Given the description of an element on the screen output the (x, y) to click on. 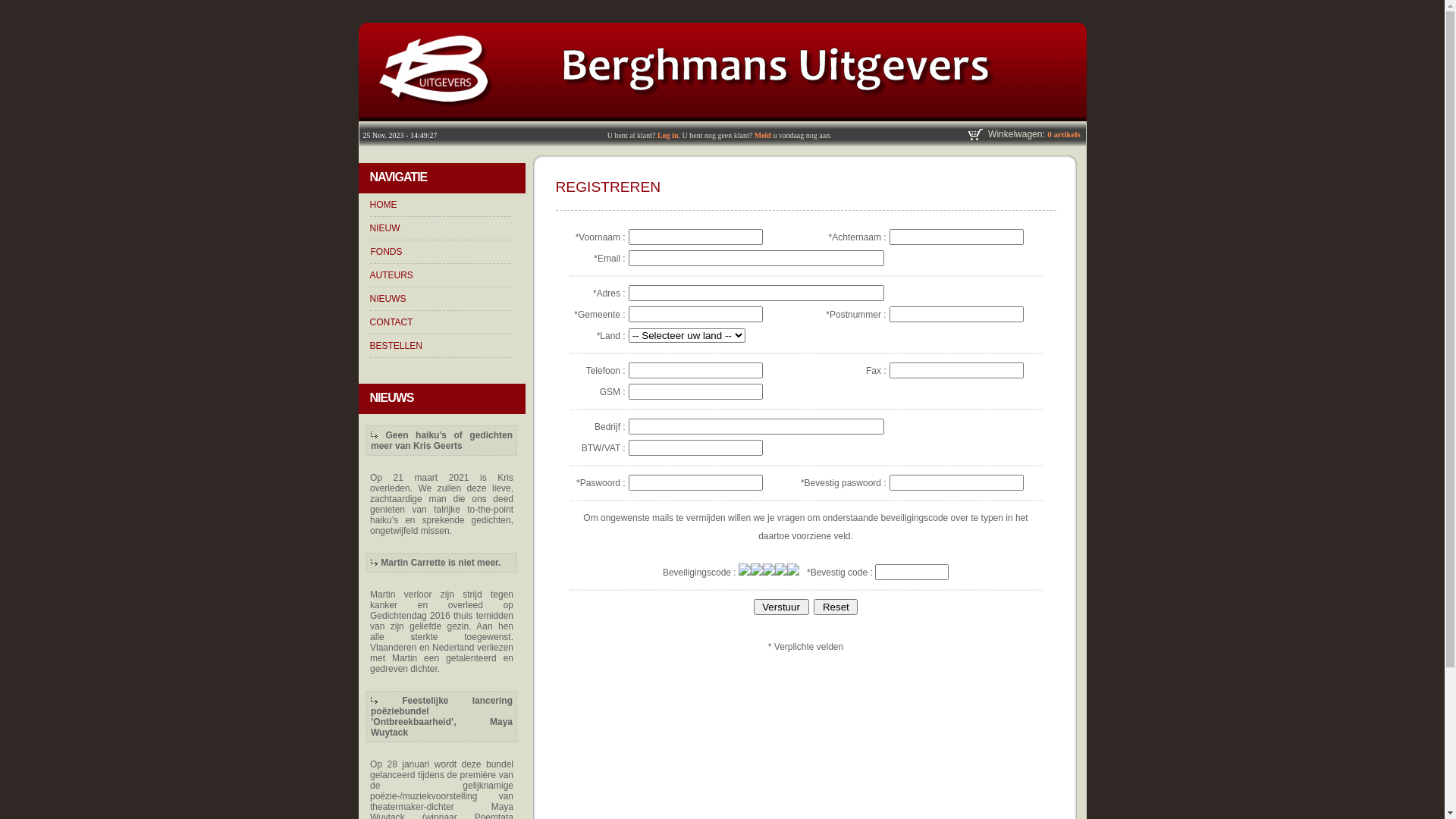
Meld Element type: text (762, 134)
AUTEURS Element type: text (391, 274)
HOME Element type: text (383, 204)
NIEUW Element type: text (385, 227)
Log in Element type: text (667, 134)
CONTACT Element type: text (391, 321)
 Verstuur  Element type: text (781, 607)
NIEUWS Element type: text (388, 298)
BESTELLEN Element type: text (396, 345)
FONDS Element type: text (385, 251)
